Given the description of an element on the screen output the (x, y) to click on. 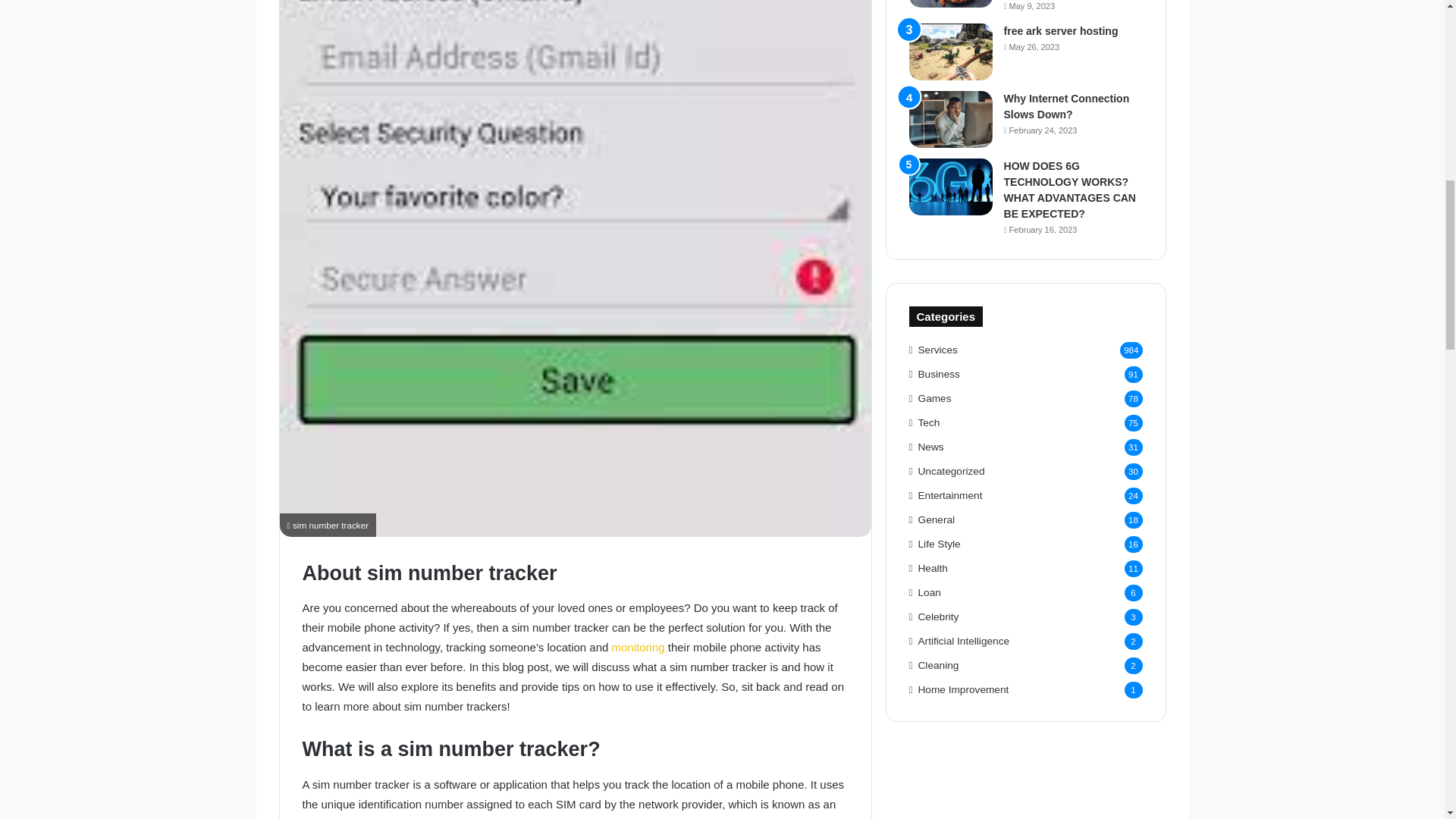
monitoring (639, 646)
